Given the description of an element on the screen output the (x, y) to click on. 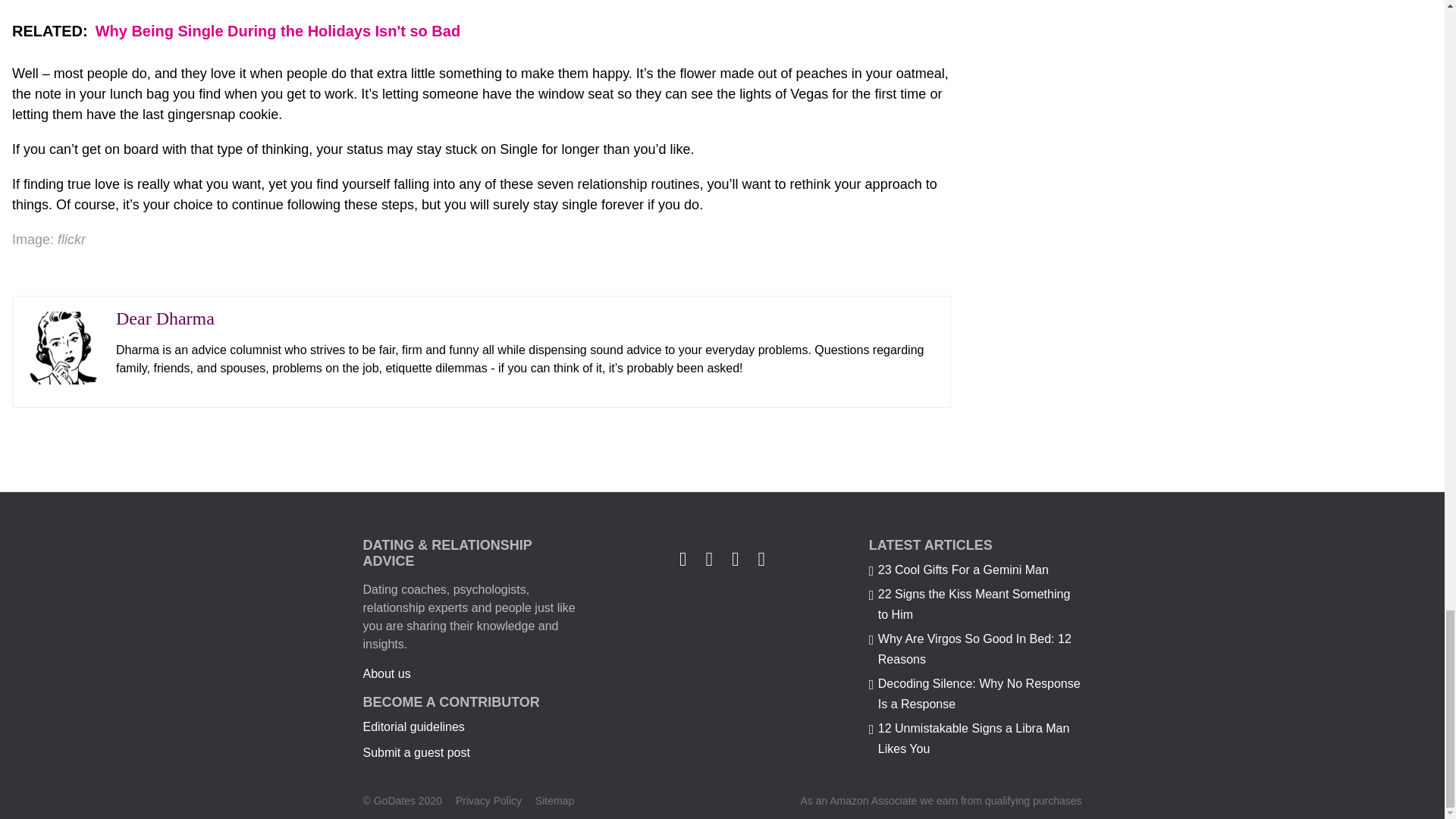
Why Are Virgos So Good In Bed: 12 Reasons (974, 648)
22 Signs the Kiss Meant Something to Him (973, 604)
Dear Dharma (165, 318)
Editorial guidelines (413, 726)
Decoding Silence: Why No Response Is a Response (978, 693)
About us (386, 673)
flickr (71, 239)
Submit a guest post (415, 752)
23 Cool Gifts For a Gemini Man (962, 569)
RELATED:  Why Being Single During the Holidays Isn't so Bad (480, 30)
